Given the description of an element on the screen output the (x, y) to click on. 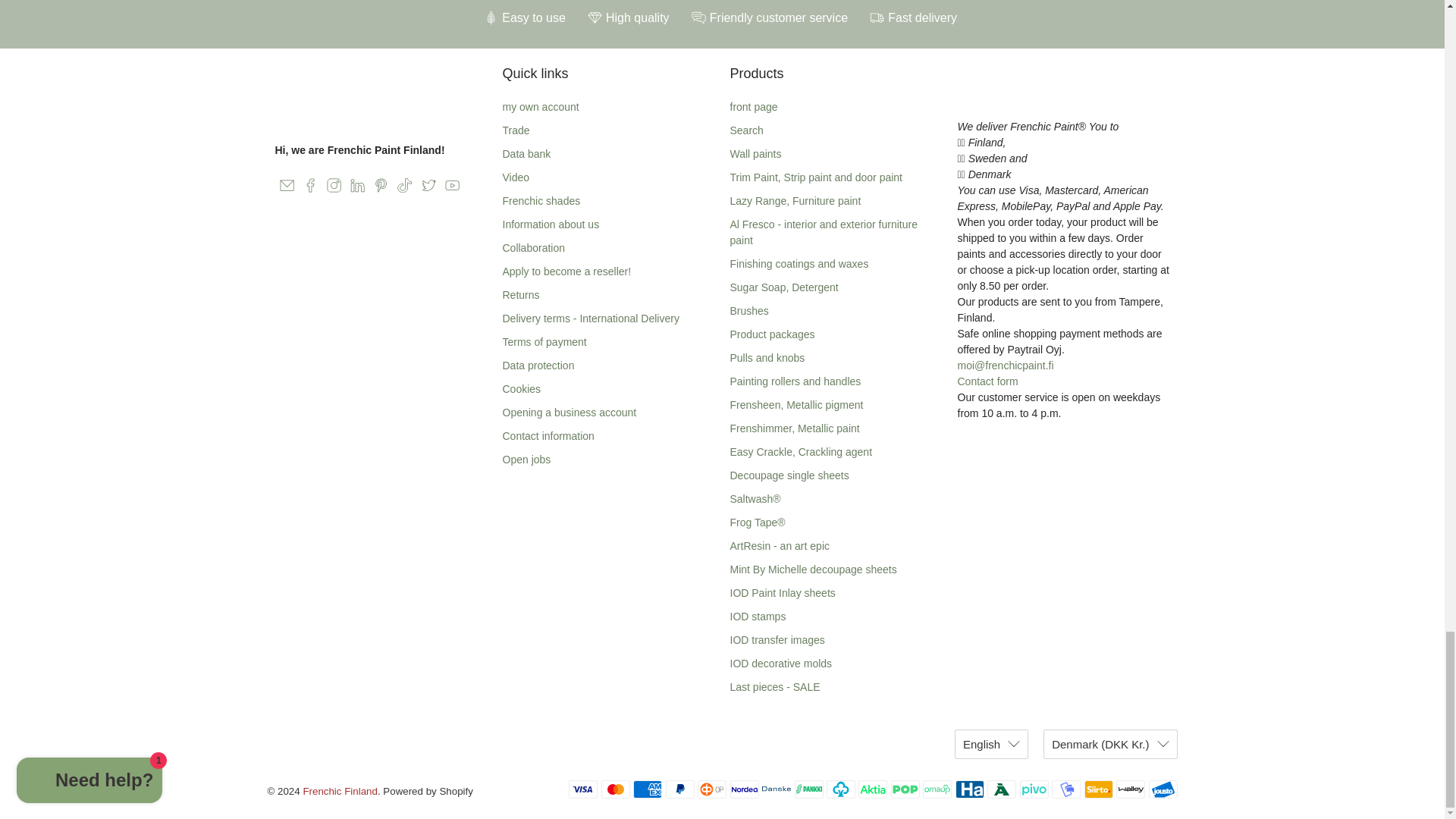
Visa (582, 789)
Mastercard (615, 789)
